Given the description of an element on the screen output the (x, y) to click on. 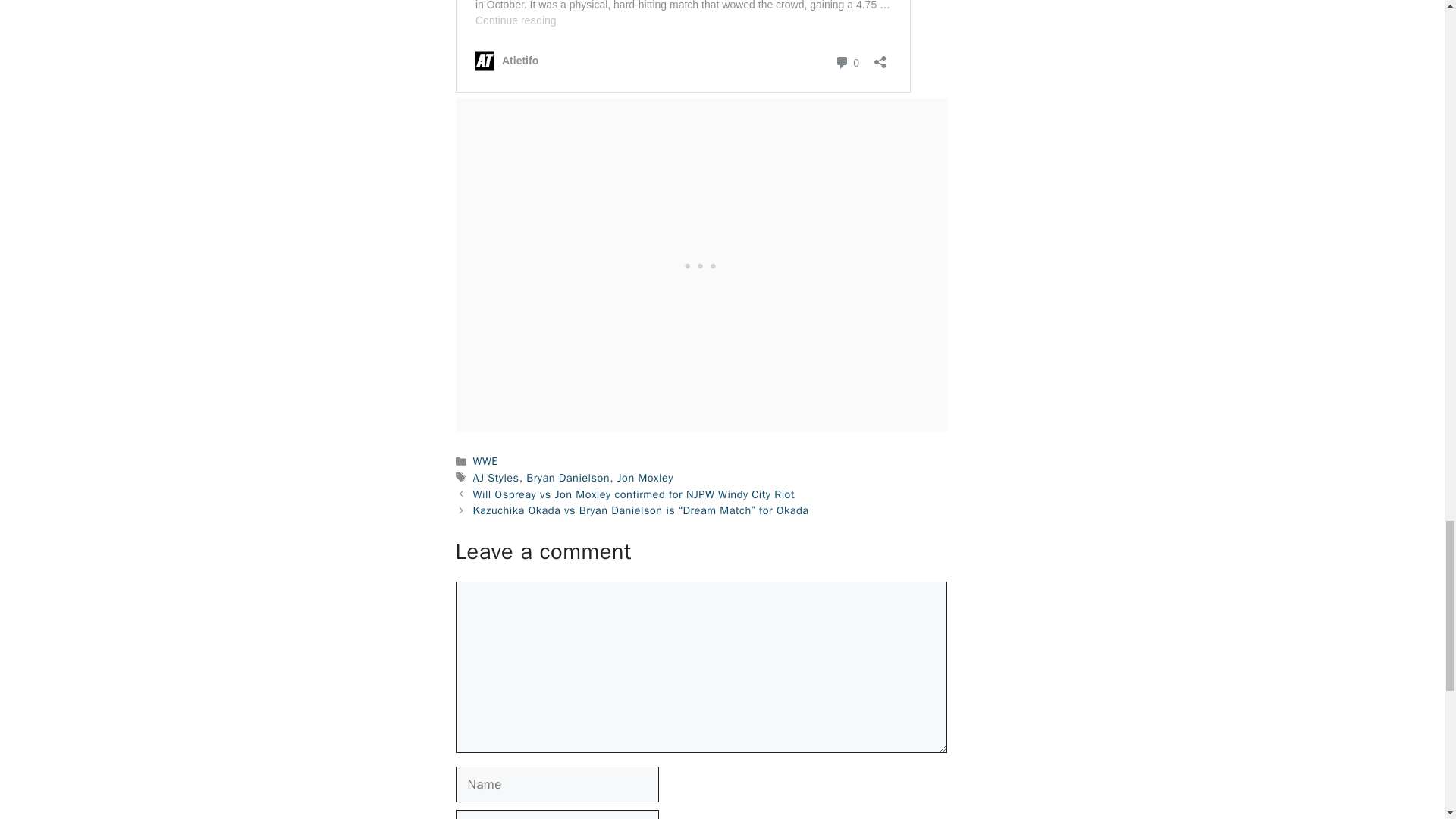
WWE (485, 460)
Jon Moxley (644, 477)
AJ Styles (496, 477)
Bryan Danielson (567, 477)
